Given the description of an element on the screen output the (x, y) to click on. 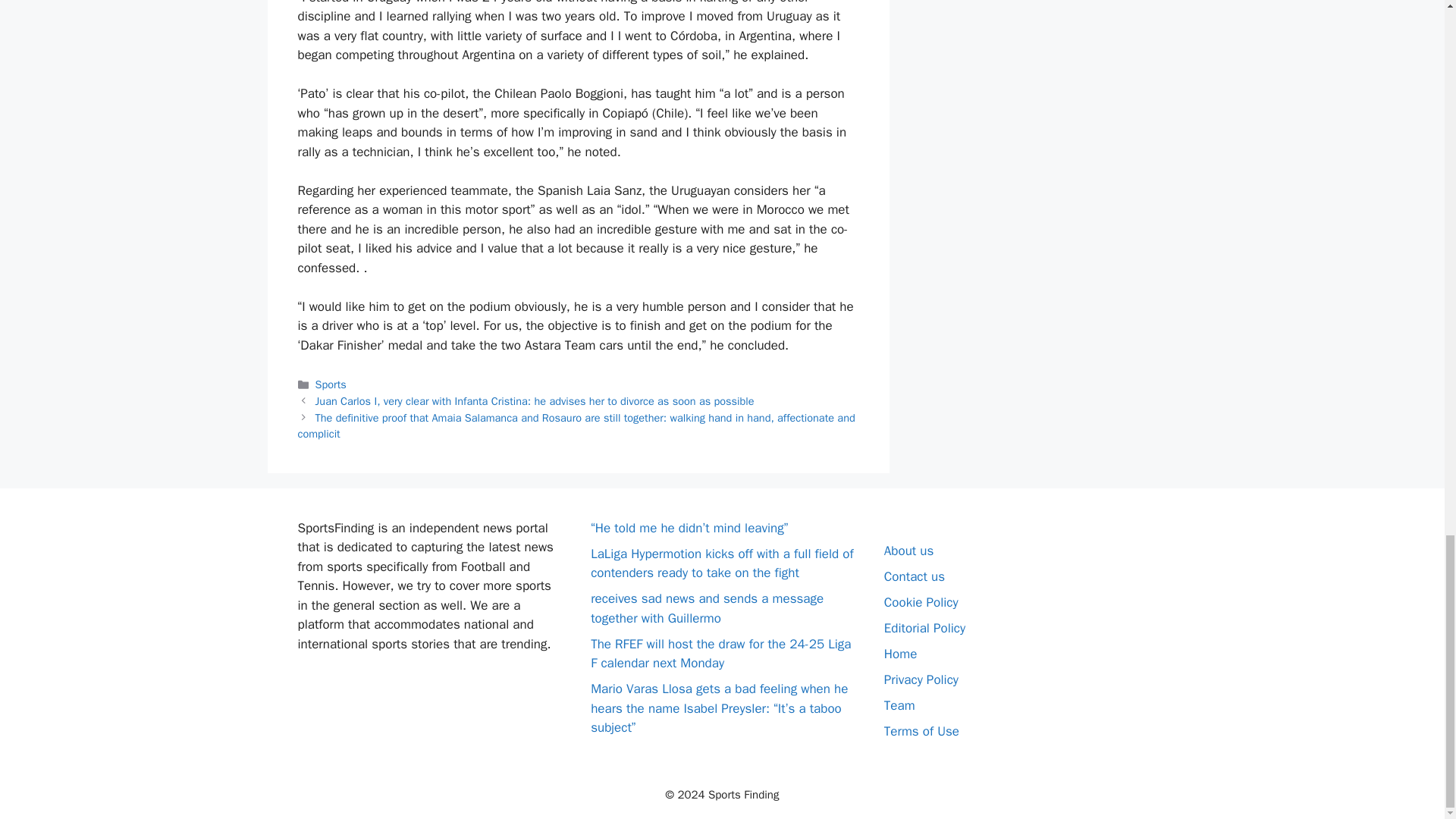
Contact us (913, 576)
Sports (330, 384)
Home (900, 653)
Cookie Policy (920, 602)
Editorial Policy (924, 627)
